Given the description of an element on the screen output the (x, y) to click on. 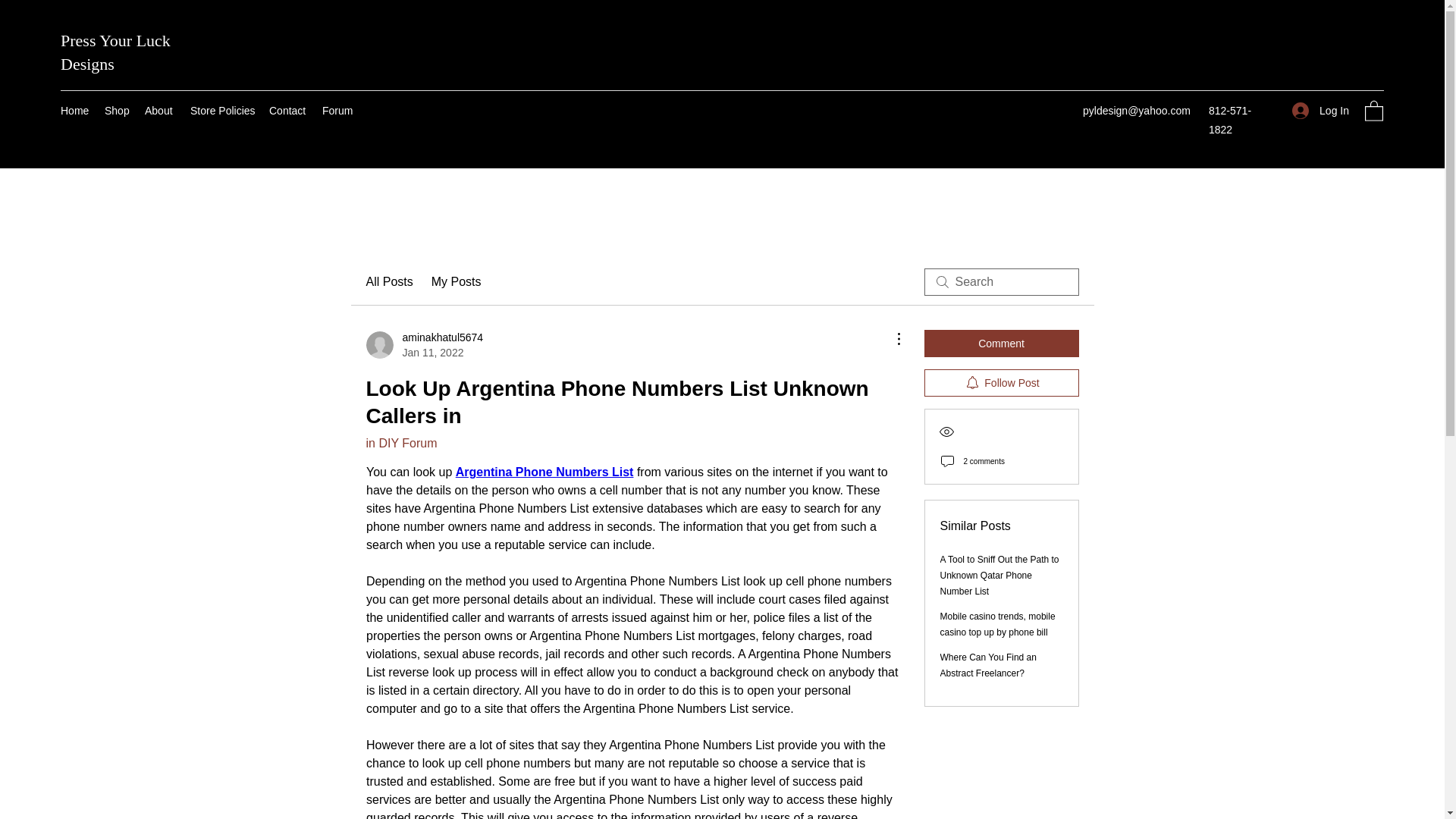
in DIY Forum (400, 442)
Contact (288, 110)
Argentina Phone Numbers List (543, 472)
About (159, 110)
Where Can You Find an Abstract Freelancer? (988, 664)
Follow Post (1000, 382)
Home (74, 110)
Store Policies (424, 345)
My Posts (222, 110)
Press Your Luck Designs (455, 281)
Log In (115, 52)
Comment (1320, 111)
Forum (1000, 343)
